Given the description of an element on the screen output the (x, y) to click on. 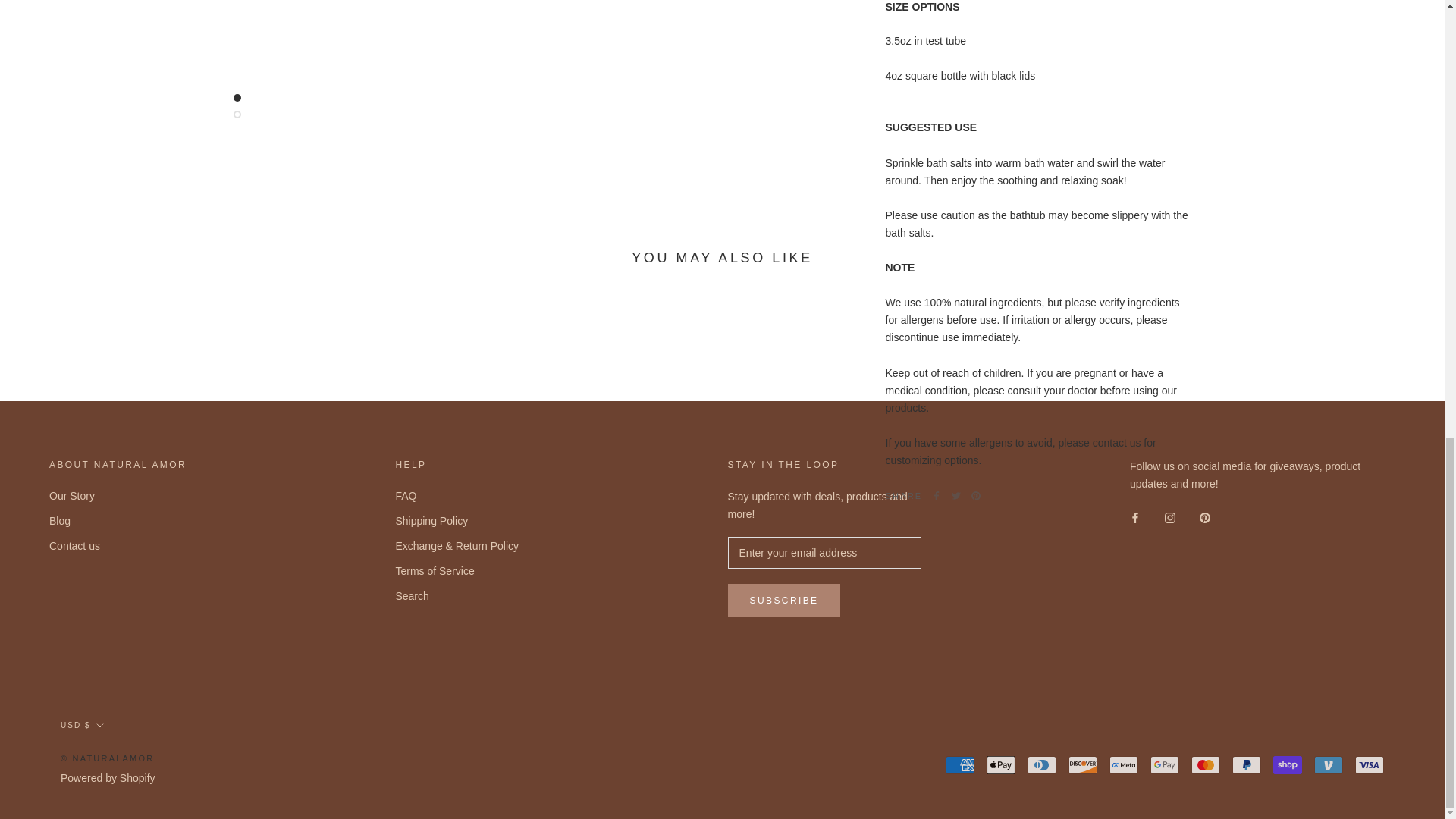
Discover (1082, 764)
Visa (1369, 764)
PayPal (1245, 764)
Shop Pay (1286, 764)
Diners Club (1042, 764)
Apple Pay (1000, 764)
Mastercard (1205, 764)
Google Pay (1164, 764)
Venmo (1328, 764)
American Express (959, 764)
Meta Pay (1123, 764)
